Given the description of an element on the screen output the (x, y) to click on. 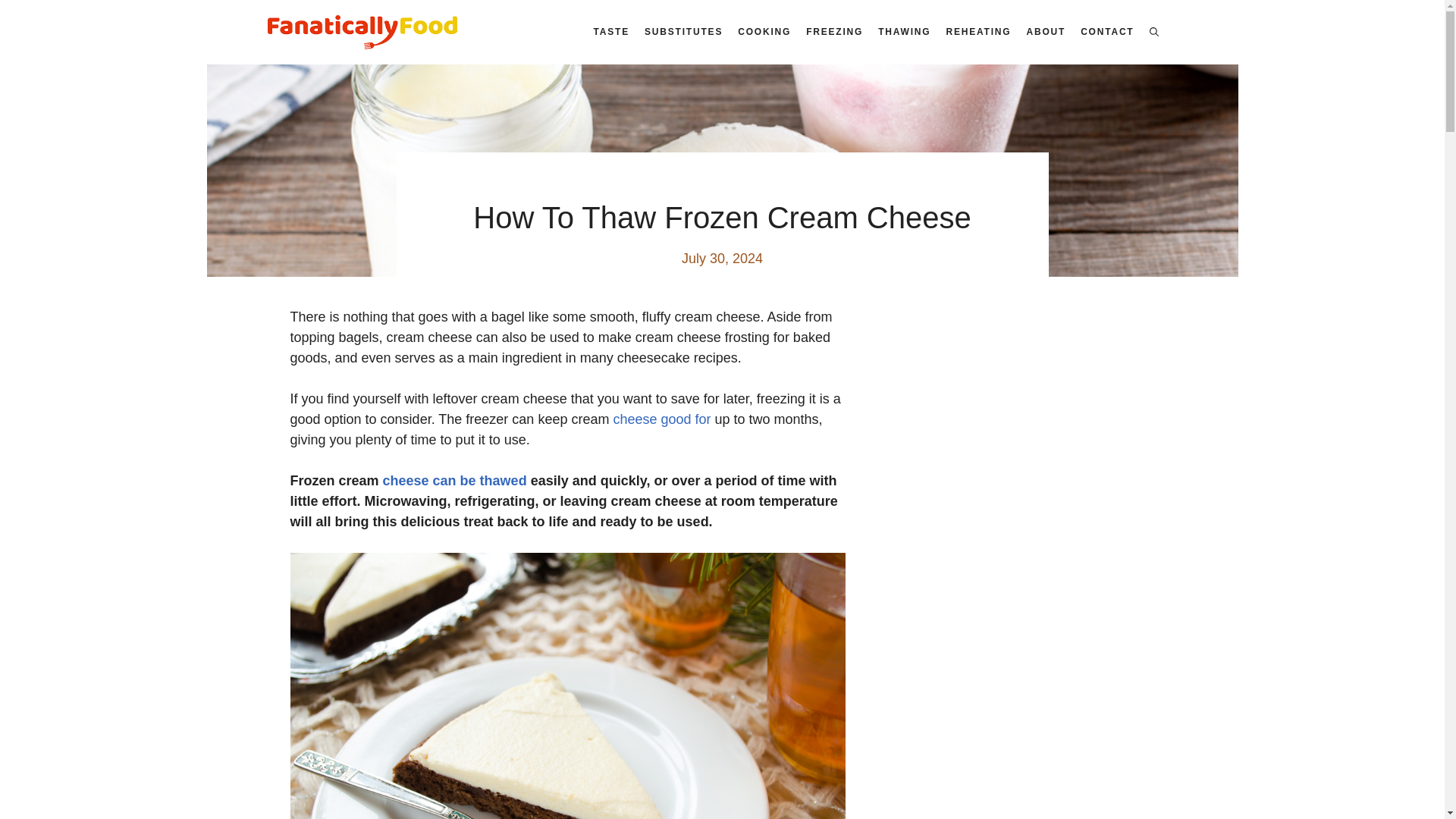
ABOUT (1045, 32)
cheese good for (661, 418)
FREEZING (833, 32)
CONTACT (1107, 32)
SUBSTITUTES (683, 32)
COOKING (763, 32)
cheese can be thawed (454, 480)
REHEATING (977, 32)
THAWING (903, 32)
TASTE (611, 32)
